Given the description of an element on the screen output the (x, y) to click on. 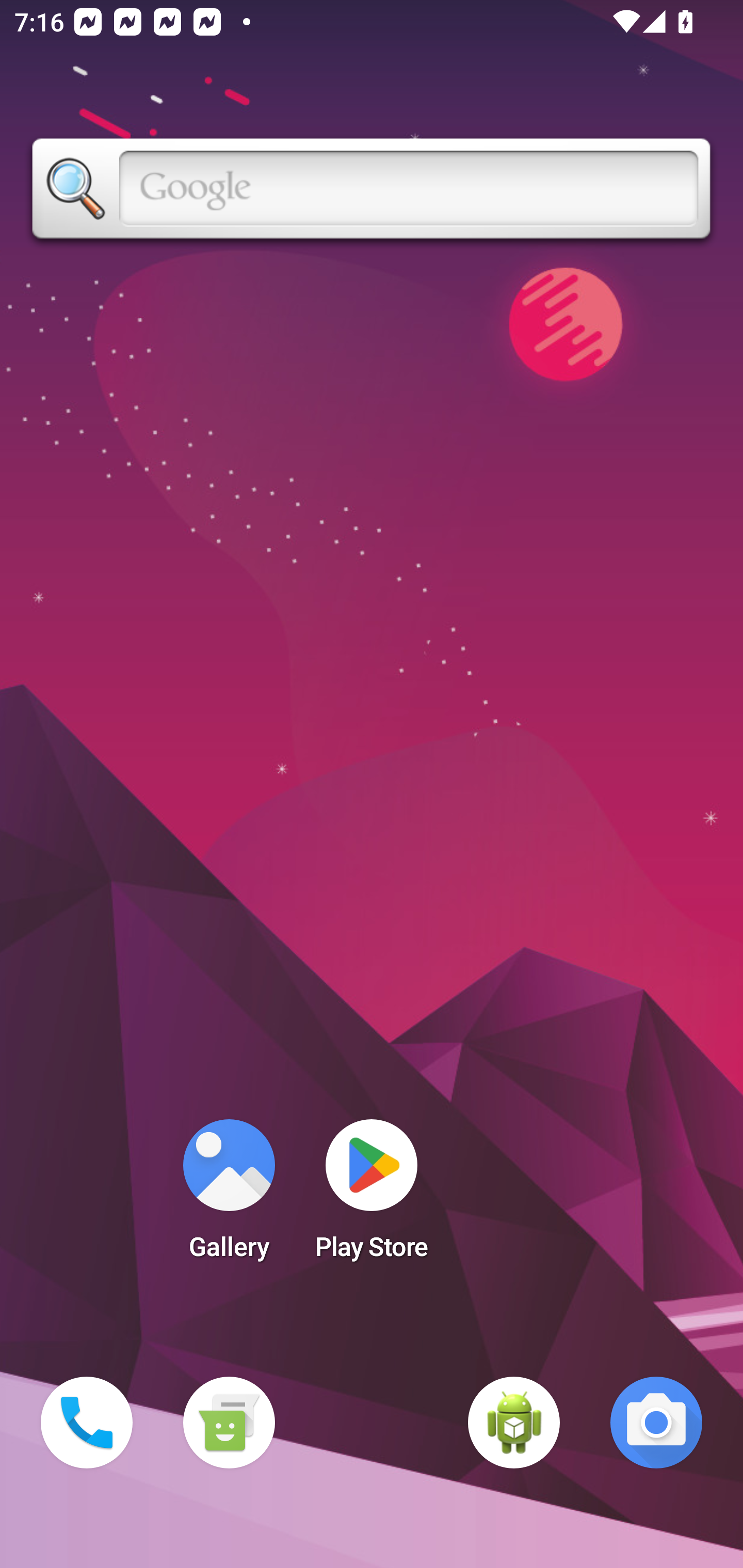
Gallery (228, 1195)
Play Store (371, 1195)
Phone (86, 1422)
Messaging (228, 1422)
WebView Browser Tester (513, 1422)
Camera (656, 1422)
